Given the description of an element on the screen output the (x, y) to click on. 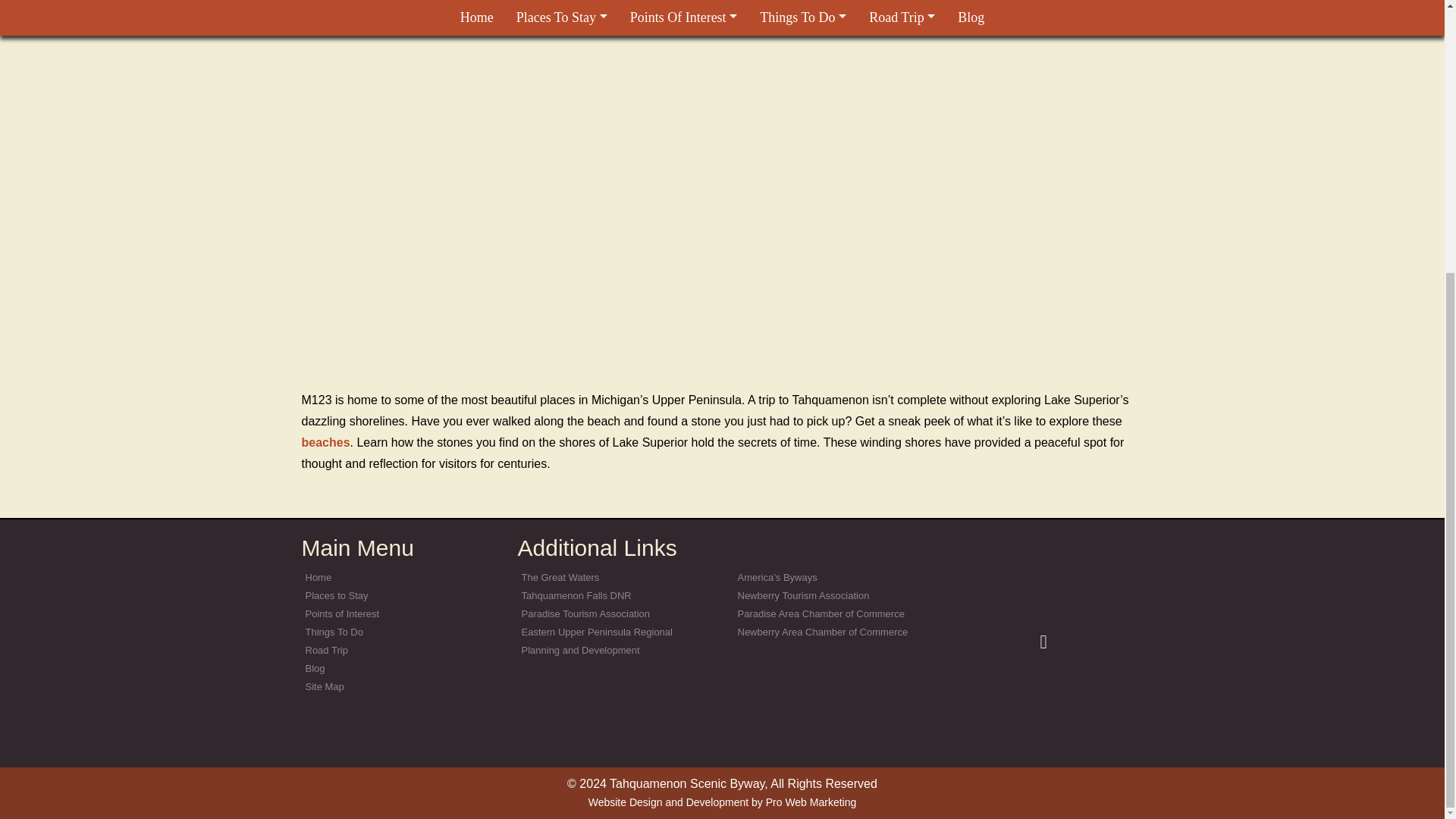
Website Designed by Pro Web Marketing (722, 802)
beaches (325, 441)
Points of Interest (341, 613)
Home (317, 577)
Places to Stay (336, 595)
